Given the description of an element on the screen output the (x, y) to click on. 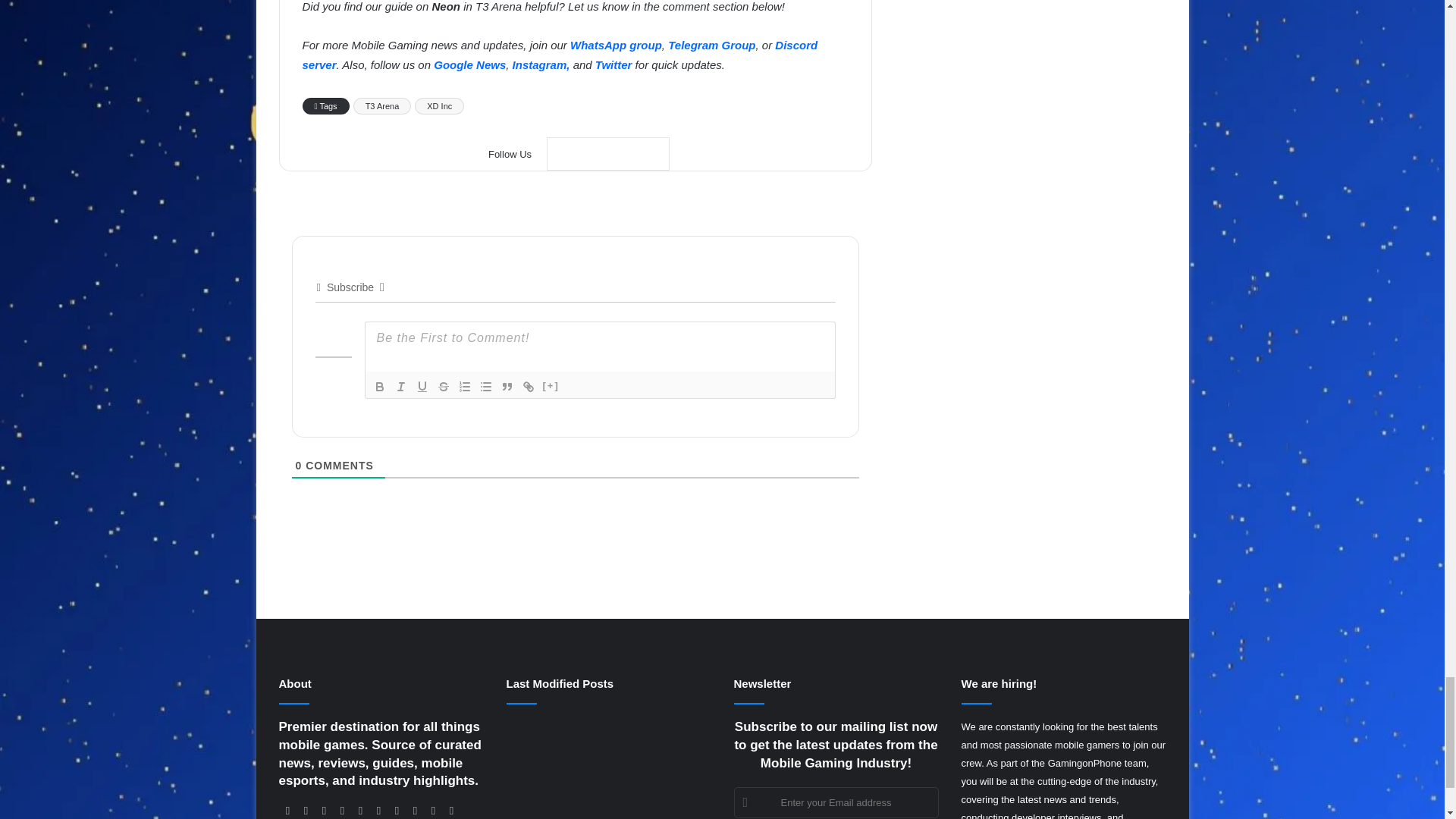
Strike (442, 386)
Italic (400, 386)
Bold (379, 386)
Ordered List (463, 386)
Google News (608, 153)
Underline (421, 386)
